Given the description of an element on the screen output the (x, y) to click on. 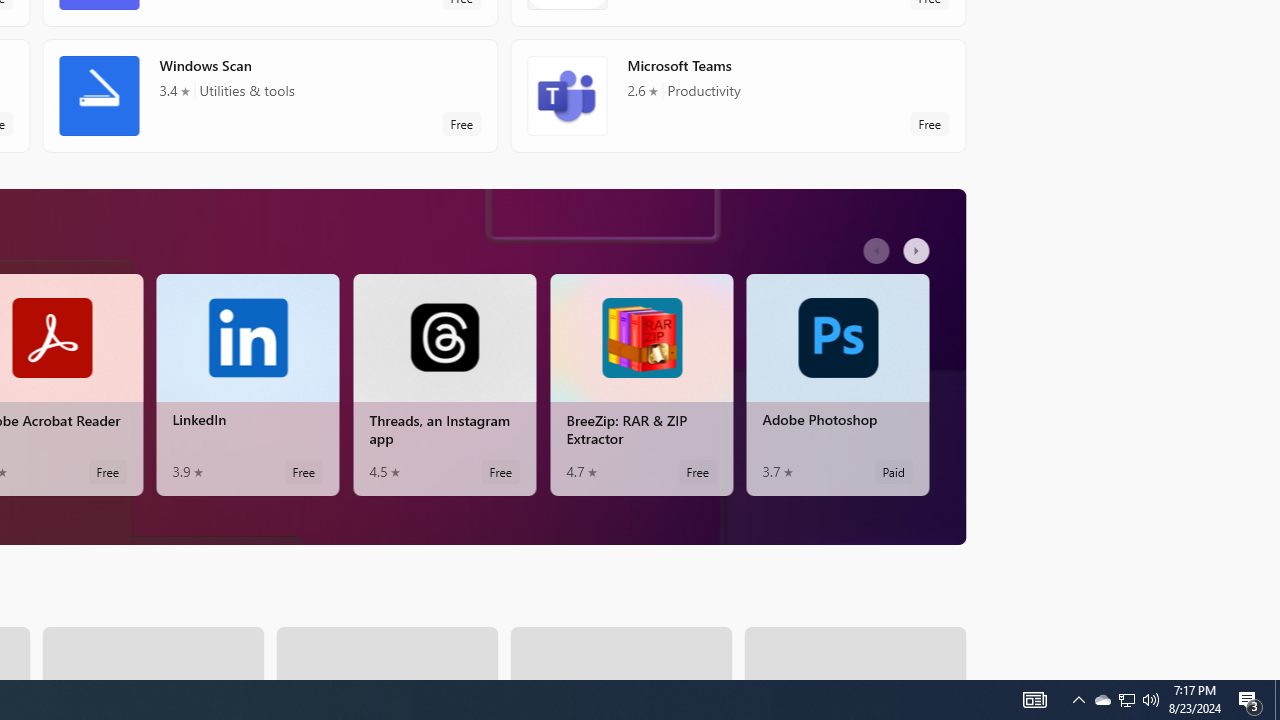
AutomationID: RightScrollButton (919, 250)
LinkedIn. Average rating of 3.9 out of five stars. Free   (247, 384)
AutomationID: LeftScrollButton (878, 250)
